Given the description of an element on the screen output the (x, y) to click on. 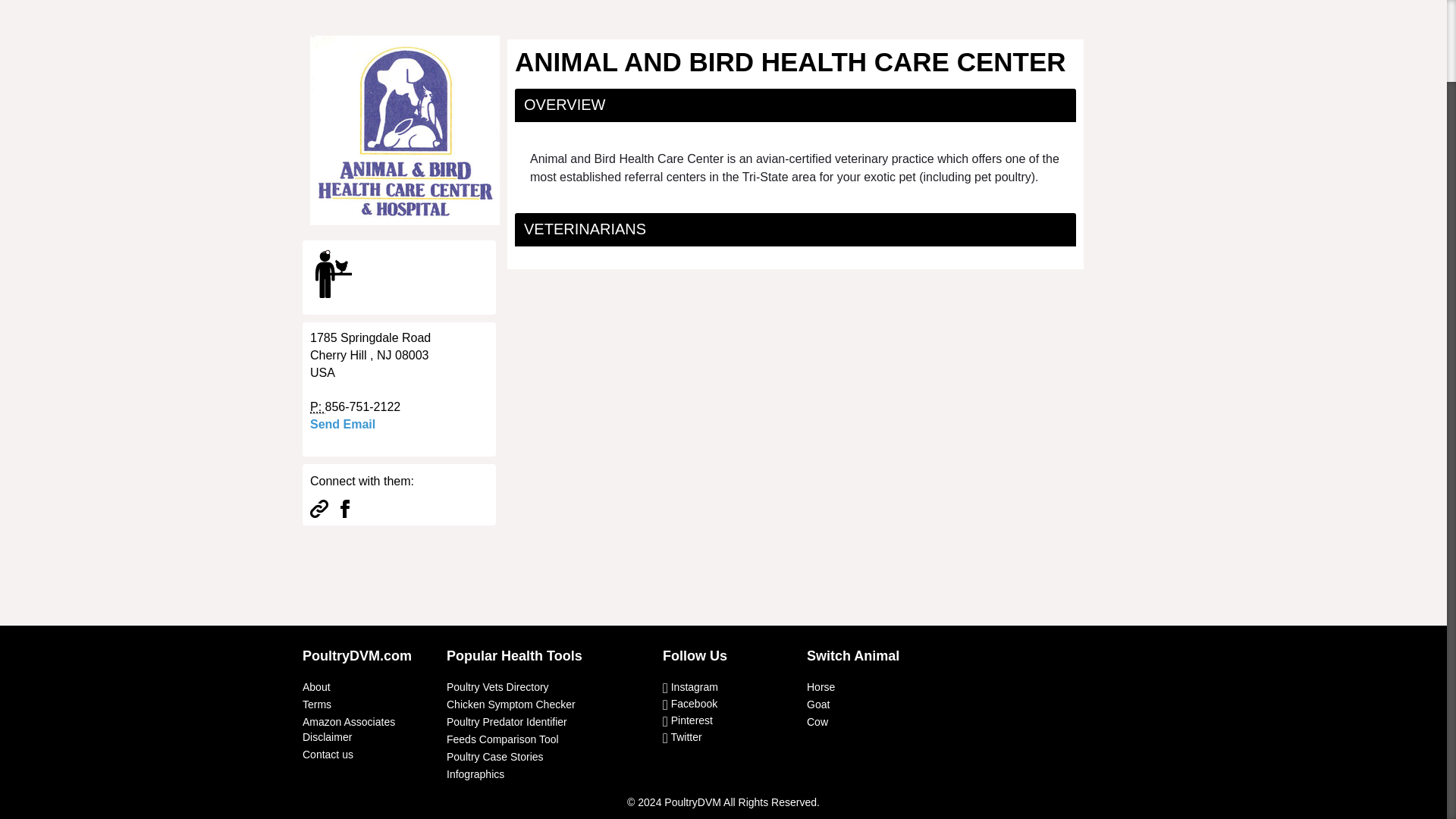
OVERVIEW (564, 104)
Send Email (342, 423)
VETERINARIANS (585, 228)
